Given the description of an element on the screen output the (x, y) to click on. 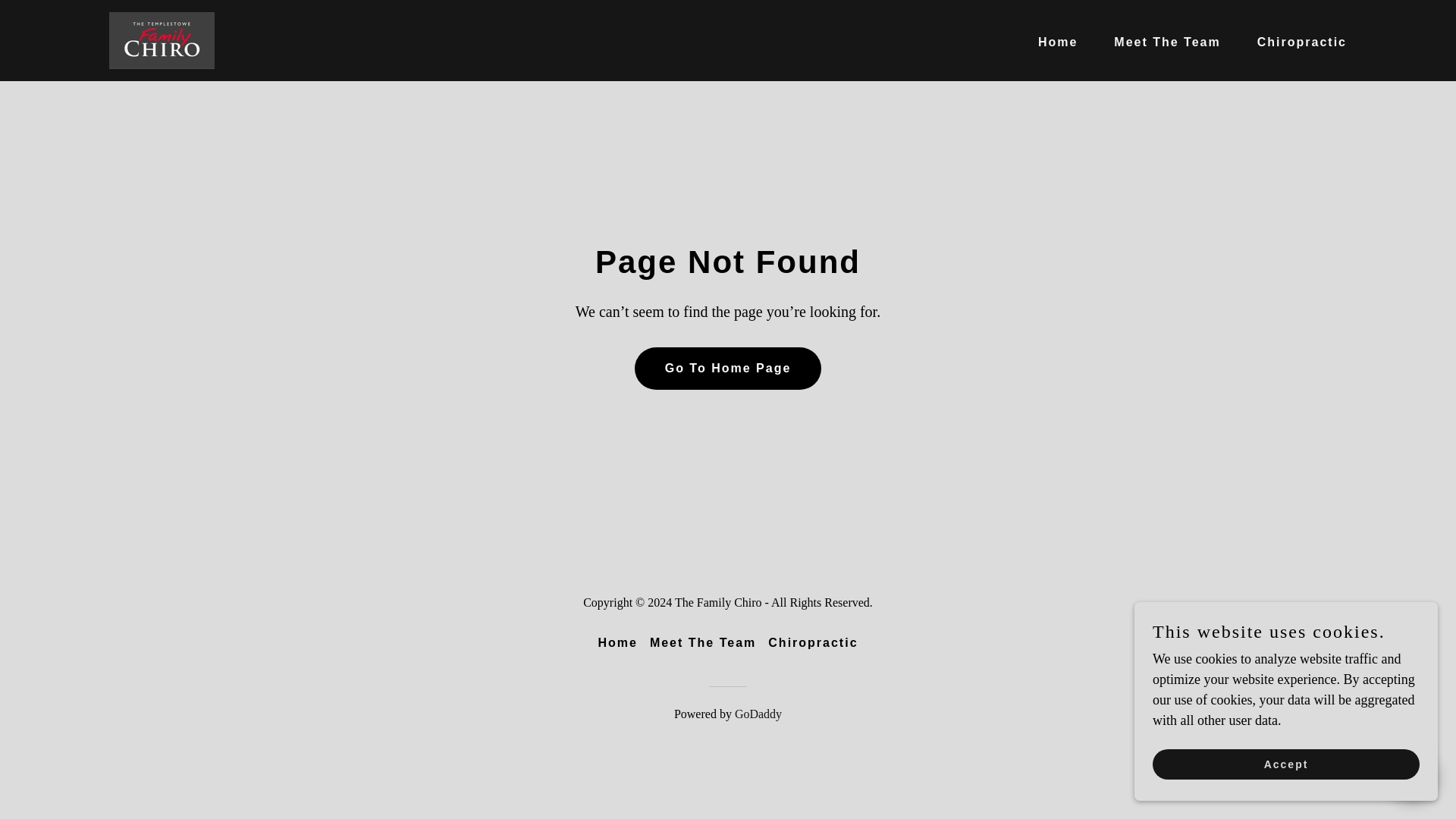
Home (617, 642)
The Templestowe Family Chiro (161, 38)
Meet The Team (1160, 42)
GoDaddy (758, 713)
Accept (1286, 764)
Go To Home Page (728, 368)
Home (1051, 42)
Chiropractic (812, 642)
Meet The Team (702, 642)
Chiropractic (1295, 42)
